Given the description of an element on the screen output the (x, y) to click on. 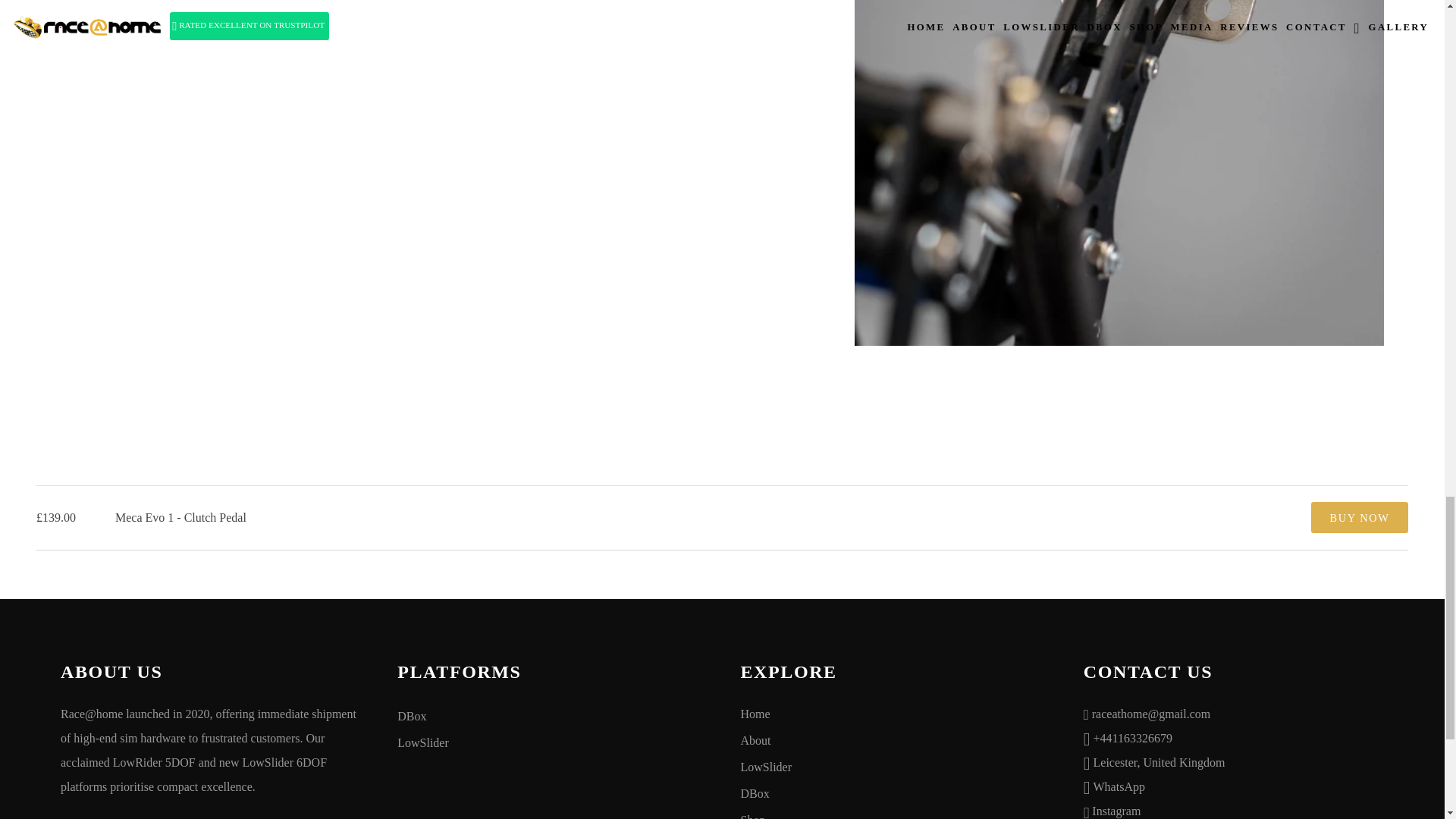
LowSlider (892, 768)
DBox (550, 717)
Shop (892, 813)
Home (892, 714)
About (892, 741)
Send email (1150, 712)
WhatsApp (1118, 785)
Buy Now (1359, 517)
Instagram (1116, 809)
Call now (1132, 737)
